Given the description of an element on the screen output the (x, y) to click on. 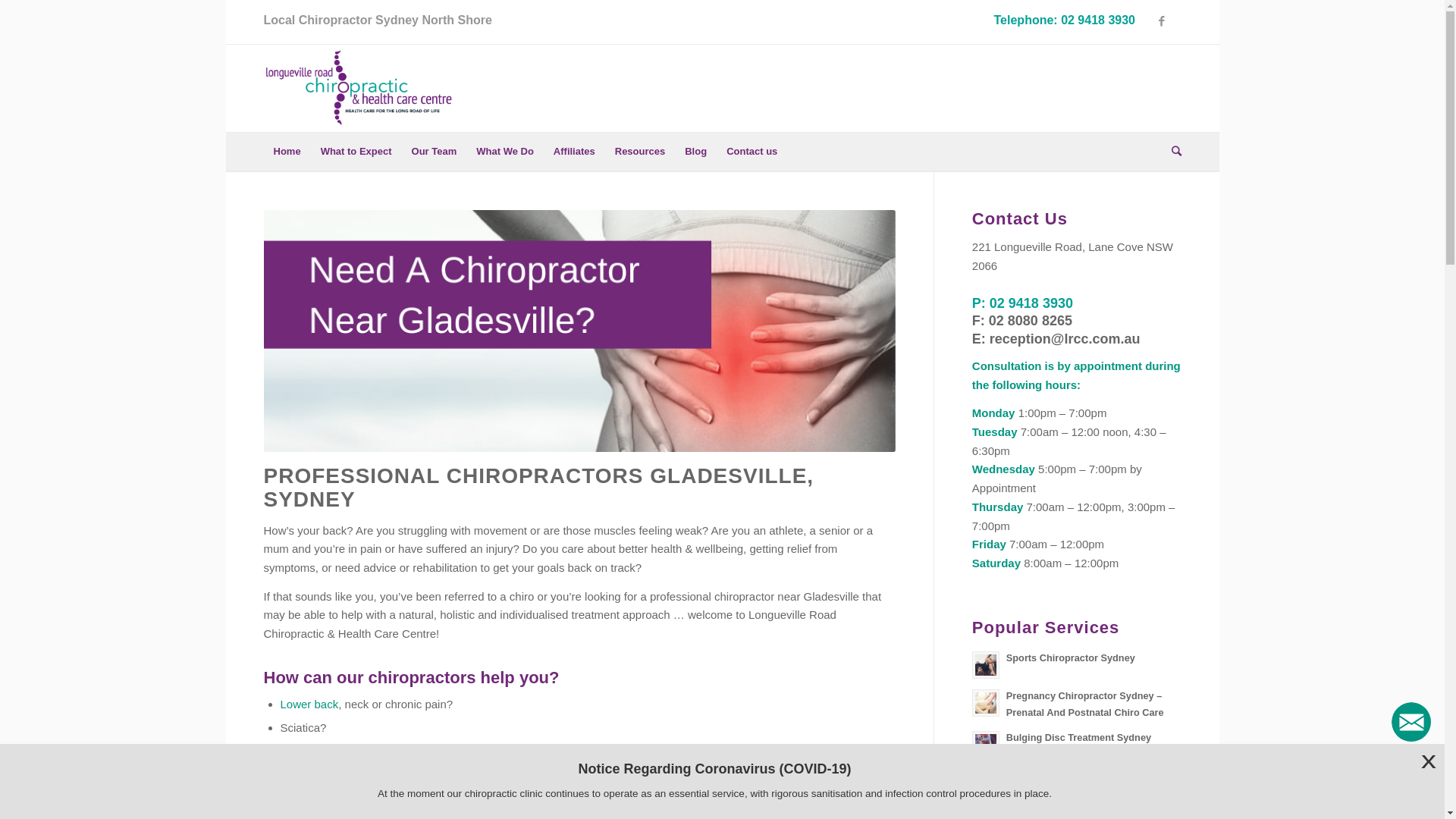
What We Do Element type: text (504, 151)
Contact us Element type: text (751, 151)
Blog Element type: text (695, 151)
02 9418 3930 Element type: text (1031, 302)
Telephone: 02 9418 3930 Element type: text (1064, 20)
Resources Element type: text (639, 151)
Bulging Disc Treatment Sydney Element type: text (1076, 743)
02 8080 8265 Element type: text (1030, 320)
Facebook Element type: hover (1161, 20)
Affiliates Element type: text (574, 151)
x Element type: text (1428, 764)
What to Expect Element type: text (355, 151)
Lower back Element type: text (309, 703)
reception@lrcc.com.au Element type: text (1064, 338)
Sports Chiropractor Sydney Element type: text (1076, 663)
Home Element type: text (286, 151)
Chiropractor for Knee Pain Treatment in Sydney Element type: text (1076, 782)
Our Team Element type: text (434, 151)
Headaches & migraines Element type: text (340, 750)
